Given the description of an element on the screen output the (x, y) to click on. 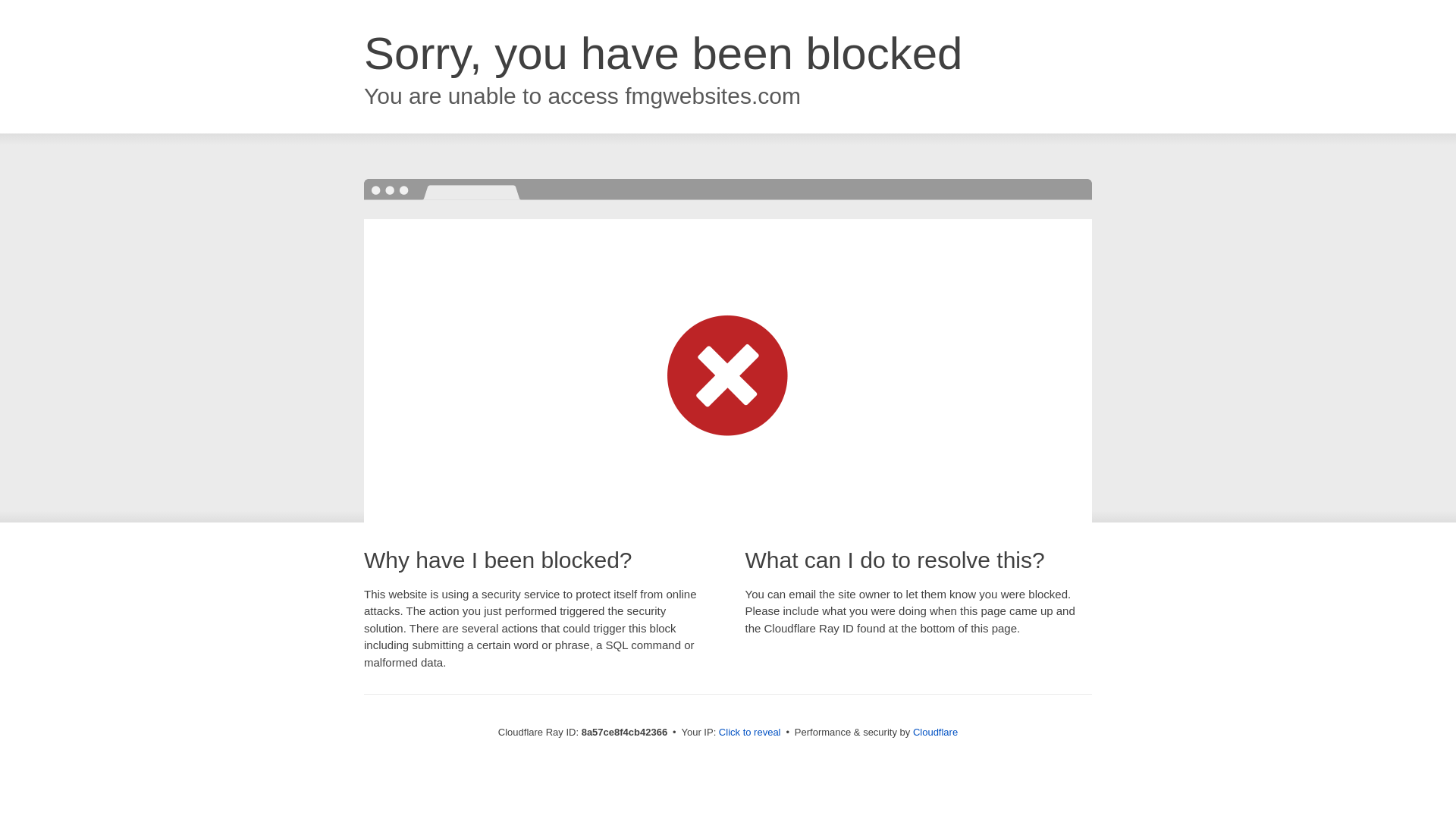
Click to reveal (749, 732)
Cloudflare (935, 731)
